Given the description of an element on the screen output the (x, y) to click on. 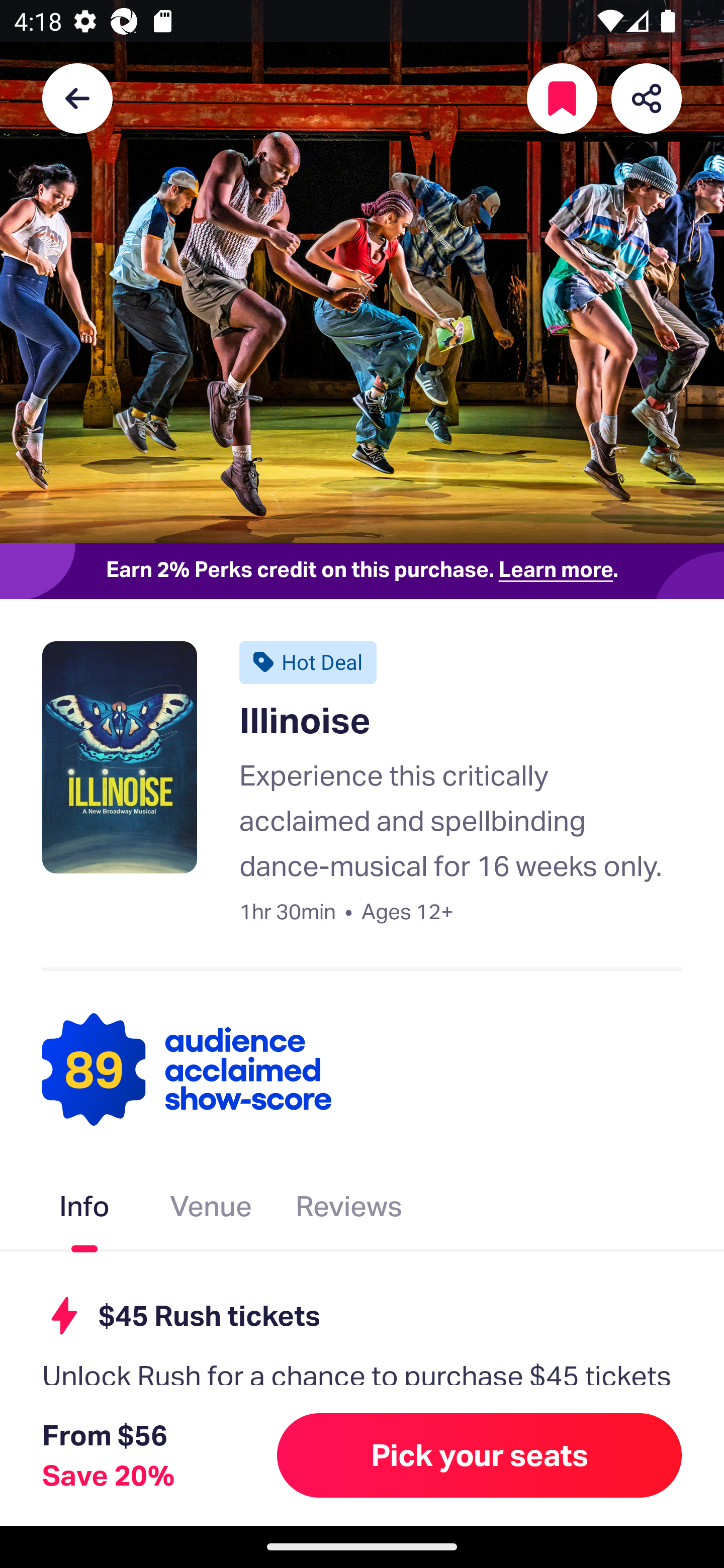
Earn 2% Perks credit on this purchase. Learn more. (362, 570)
Venue (210, 1210)
Reviews (348, 1210)
Pick your seats (479, 1454)
